Given the description of an element on the screen output the (x, y) to click on. 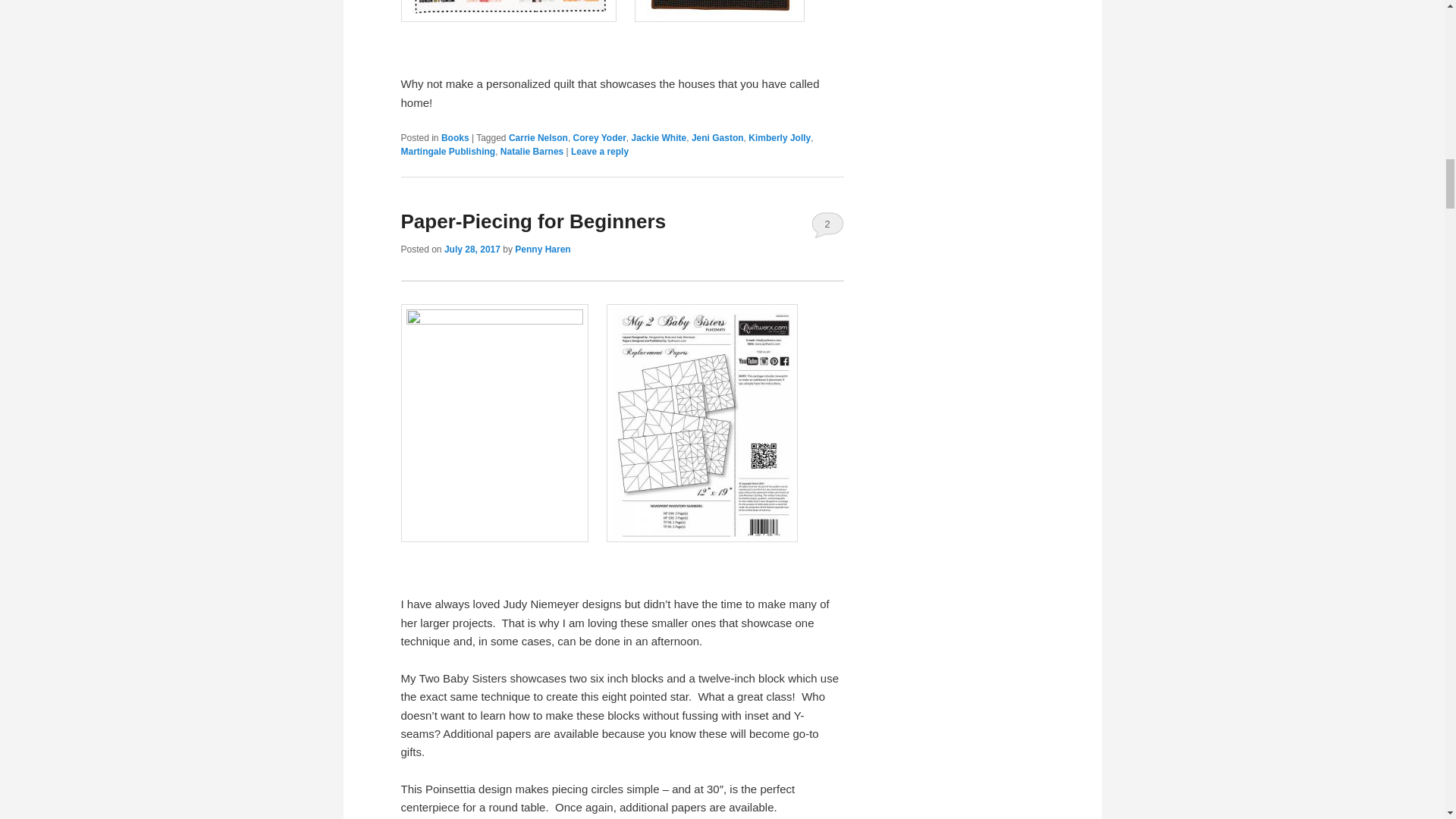
Natalie Barnes (531, 150)
View all posts by Penny Haren (542, 249)
Jackie White (657, 136)
July 28, 2017 (472, 249)
Carrie Nelson (537, 136)
Books (454, 136)
Penny Haren (542, 249)
Kimberly Jolly (779, 136)
Jeni Gaston (717, 136)
Corey Yoder (599, 136)
